Given the description of an element on the screen output the (x, y) to click on. 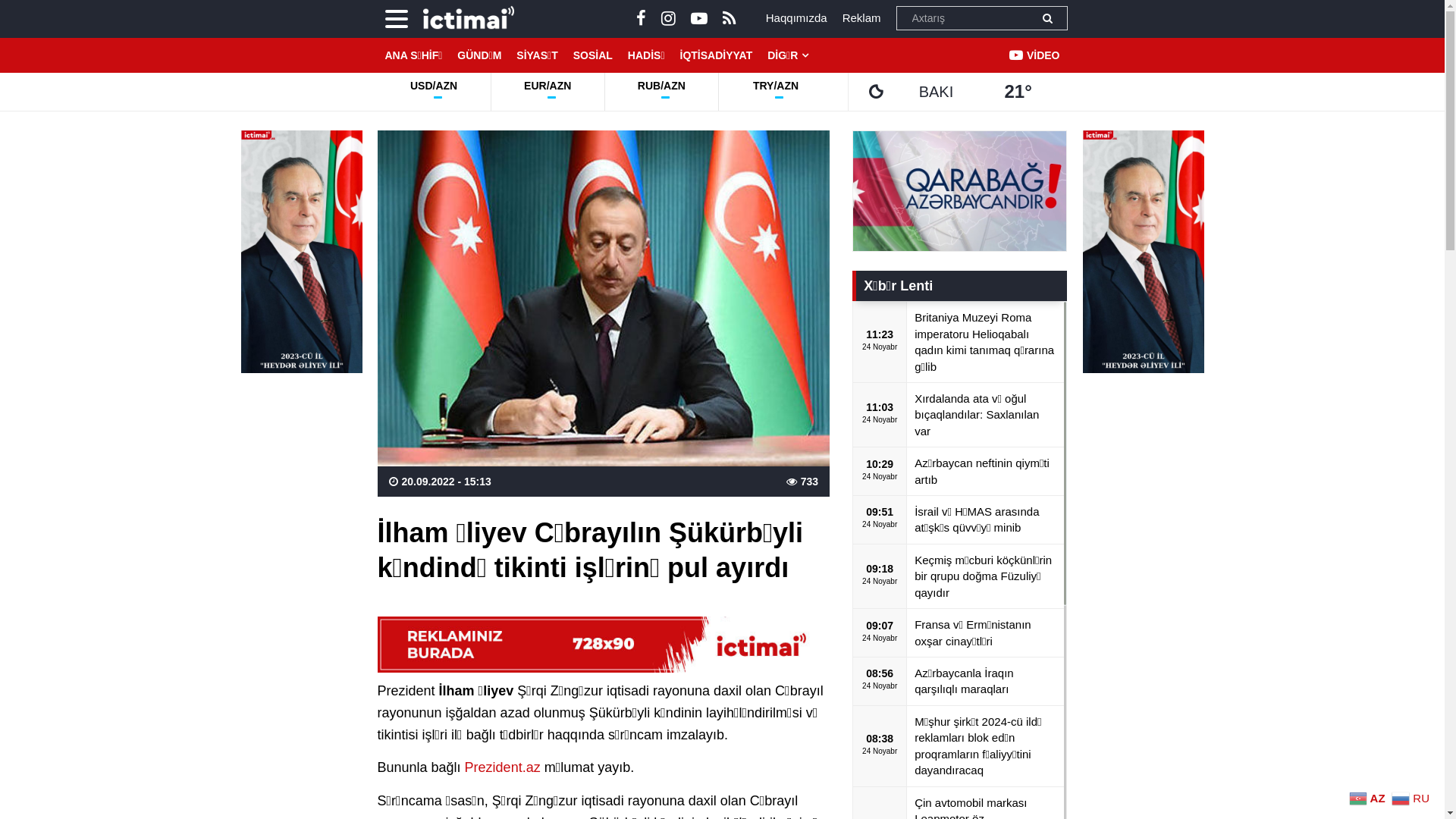
AZ Element type: text (1369, 797)
Open megamenu Element type: hover (396, 18)
RU Element type: text (1412, 797)
Prezident.az Element type: text (502, 767)
Reklam 728x90 Element type: hover (603, 644)
SOSIAL Element type: text (592, 54)
VIDEO Element type: text (1034, 54)
Reklam 336x280 Element type: hover (959, 191)
Reklam Element type: text (861, 17)
